Given the description of an element on the screen output the (x, y) to click on. 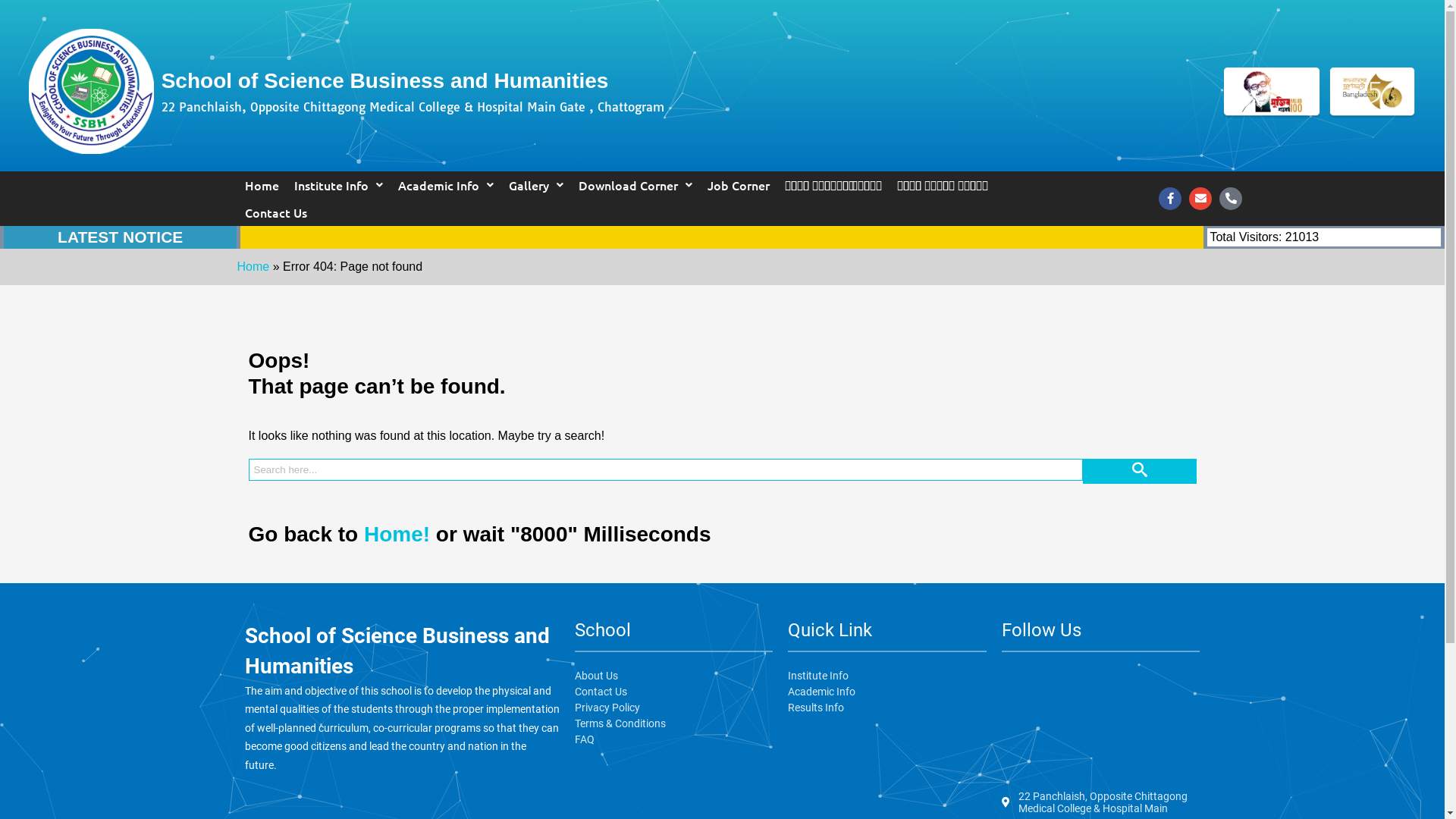
Privacy Policy Element type: text (673, 707)
Academic Info Element type: text (886, 691)
Terms & Conditions Element type: text (673, 723)
Gallery Element type: text (535, 184)
send Element type: text (1139, 470)
Academic Info Element type: text (444, 184)
Contact Us Element type: text (274, 211)
Home Element type: text (252, 266)
Job Corner Element type: text (737, 184)
Home! Element type: text (396, 534)
Home Element type: text (260, 184)
School of Science Business and Humanities Element type: text (511, 80)
Results Info Element type: text (886, 707)
School Of Science Business And Humanities Element type: hover (1100, 722)
Contact Us Element type: text (673, 691)
Institute Info Element type: text (338, 184)
FAQ Element type: text (673, 739)
About Us Element type: text (673, 675)
Institute Info Element type: text (886, 675)
Download Corner Element type: text (634, 184)
